Given the description of an element on the screen output the (x, y) to click on. 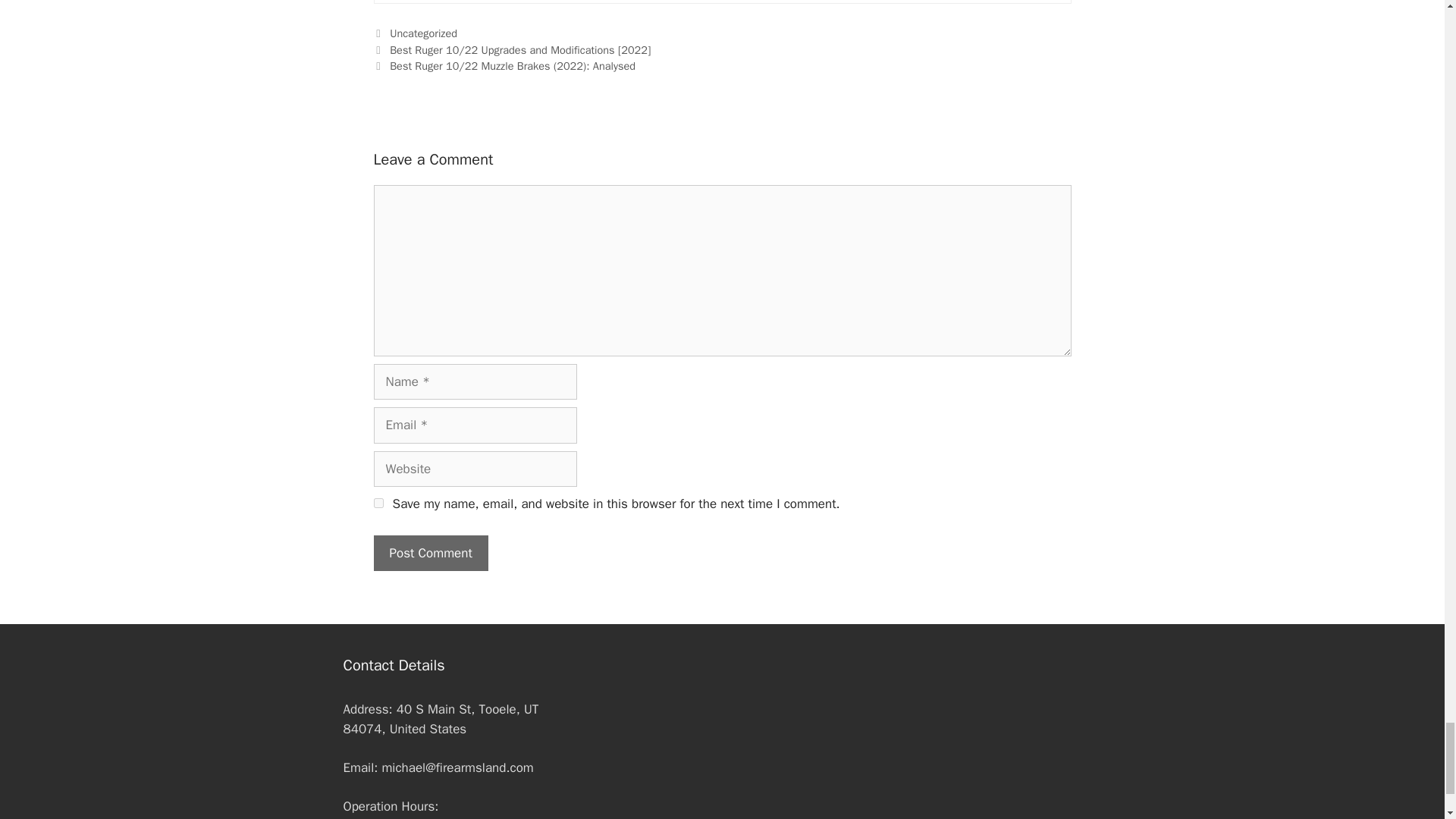
yes (377, 502)
Post Comment (429, 553)
Previous (511, 49)
Next (503, 65)
